Given the description of an element on the screen output the (x, y) to click on. 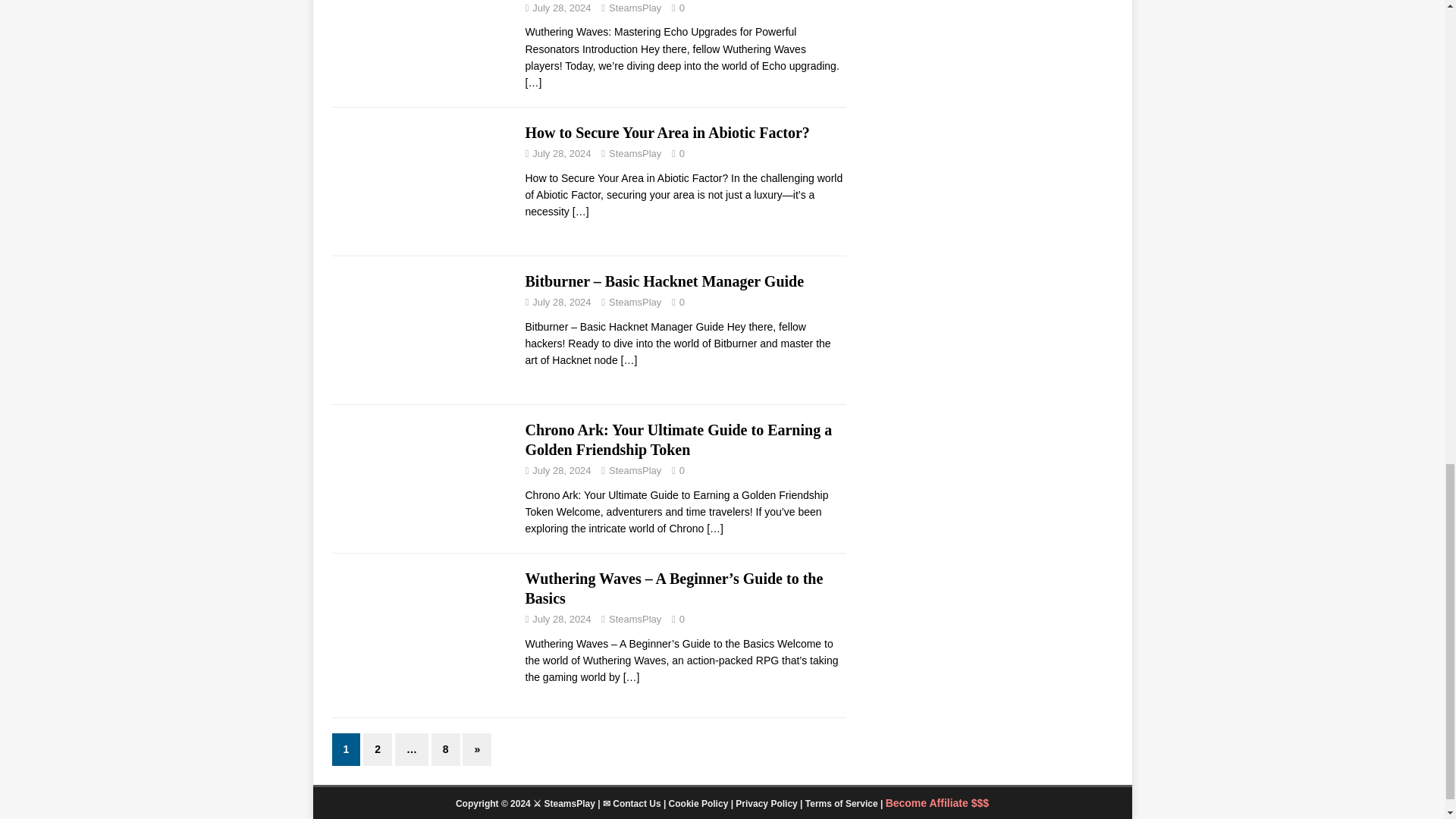
Bitburner - Basic Hacknet Manager Guide 8 (421, 330)
SteamsPlay (634, 153)
SteamsPlay (634, 7)
How to Secure Your Area in Abiotic Factor? (666, 132)
How to Secure Your Area in Abiotic Factor? 7 (421, 181)
How to Secure Your Area in Abiotic Factor? (580, 211)
